Given the description of an element on the screen output the (x, y) to click on. 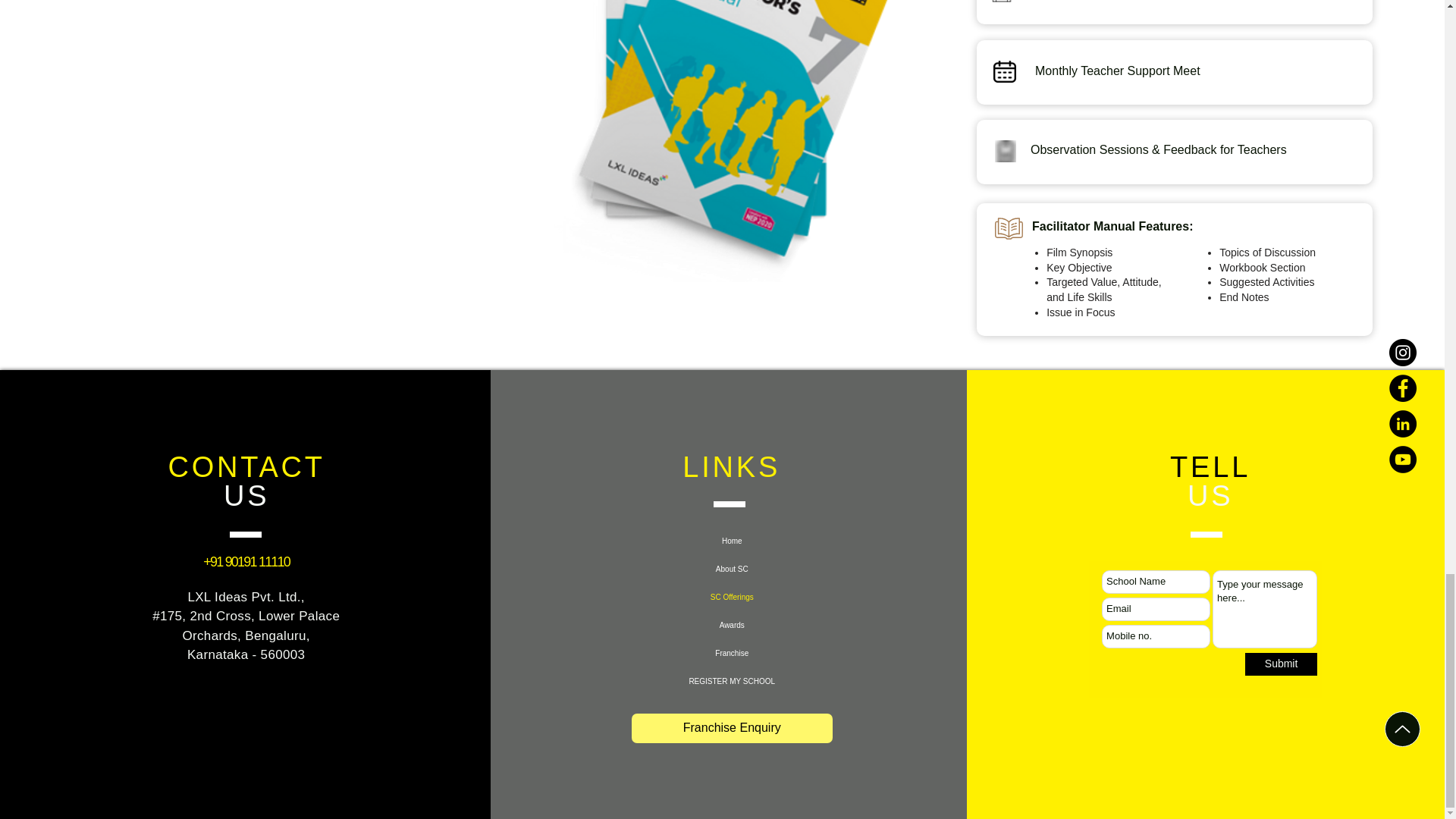
Franchise Enquiry (731, 727)
Franchise (732, 653)
Awards (732, 624)
Home (732, 541)
Submit (1280, 663)
About SC (732, 569)
SC Offerings (732, 596)
REGISTER MY SCHOOL (732, 681)
